Given the description of an element on the screen output the (x, y) to click on. 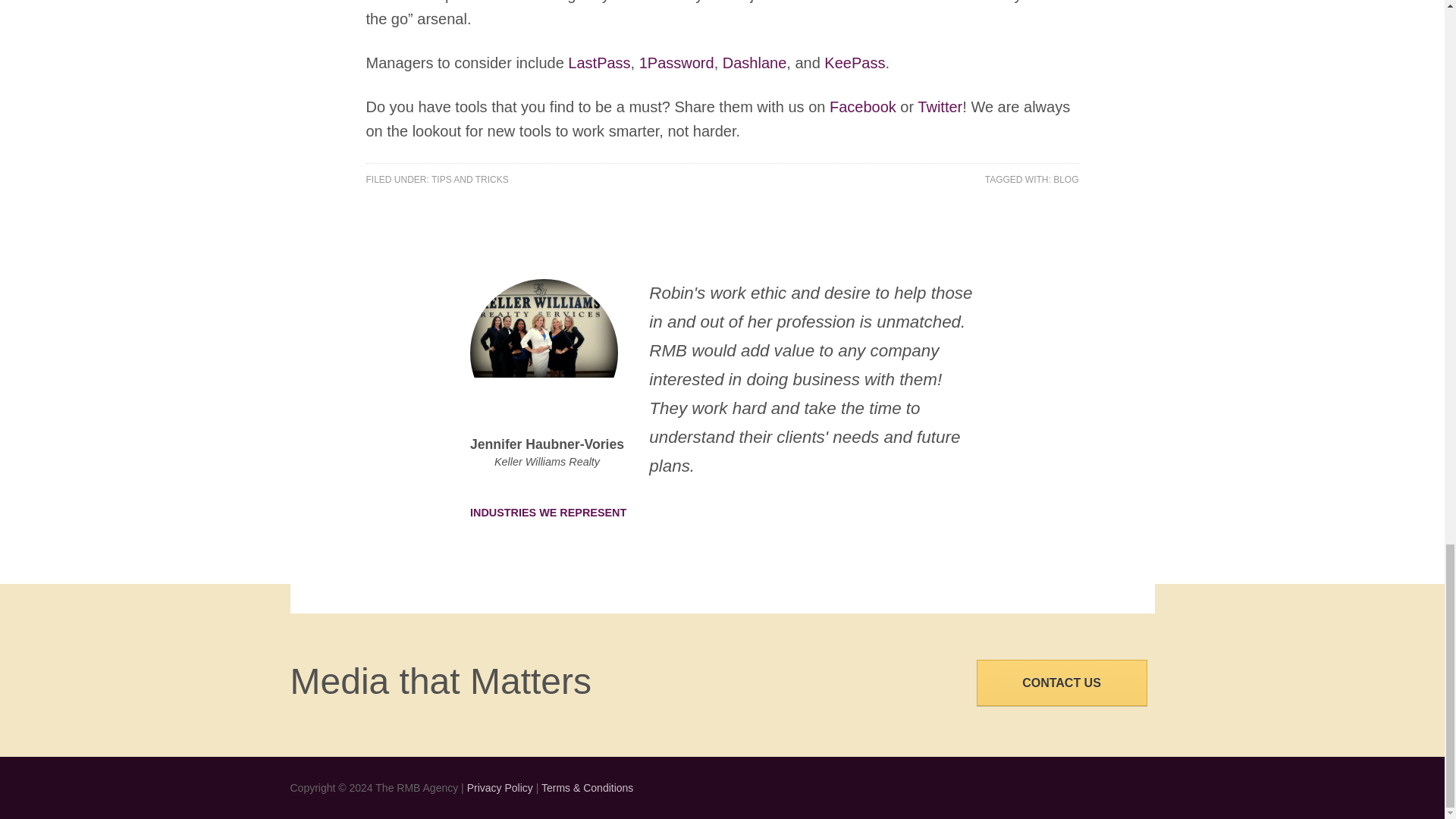
KeePass (854, 62)
Twitter (939, 106)
INDUSTRIES WE REPRESENT (559, 511)
BLOG (1065, 179)
TIPS AND TRICKS (469, 179)
Facebook (862, 106)
Dashlane (754, 62)
CONTACT US (1061, 682)
Privacy Policy (499, 787)
1Password (676, 62)
